Given the description of an element on the screen output the (x, y) to click on. 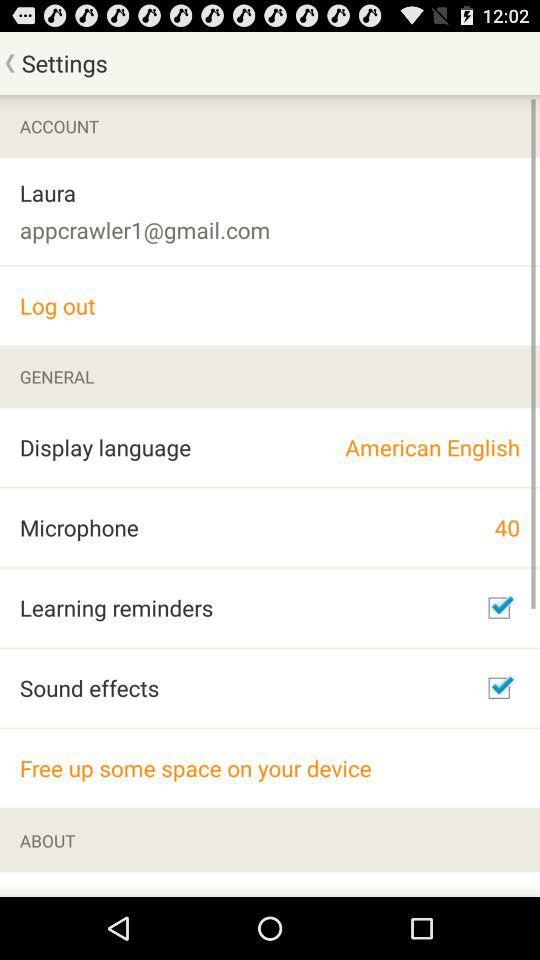
check uncheck box (499, 687)
